Given the description of an element on the screen output the (x, y) to click on. 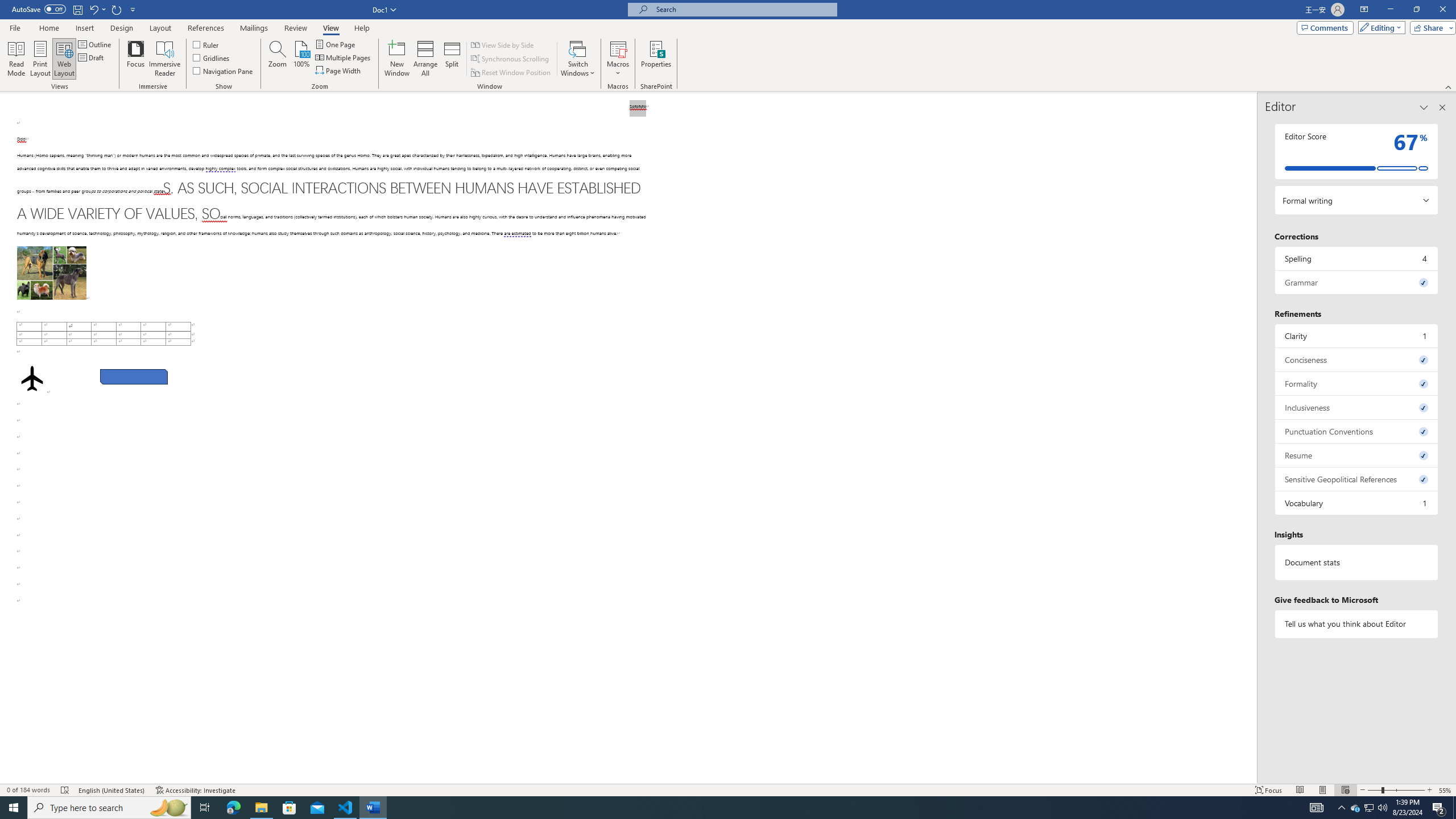
Page Width (338, 69)
Editor Score 67% (1356, 151)
Undo Paragraph Alignment (96, 9)
Conciseness, 0 issues. Press space or enter to review items. (1356, 359)
